Given the description of an element on the screen output the (x, y) to click on. 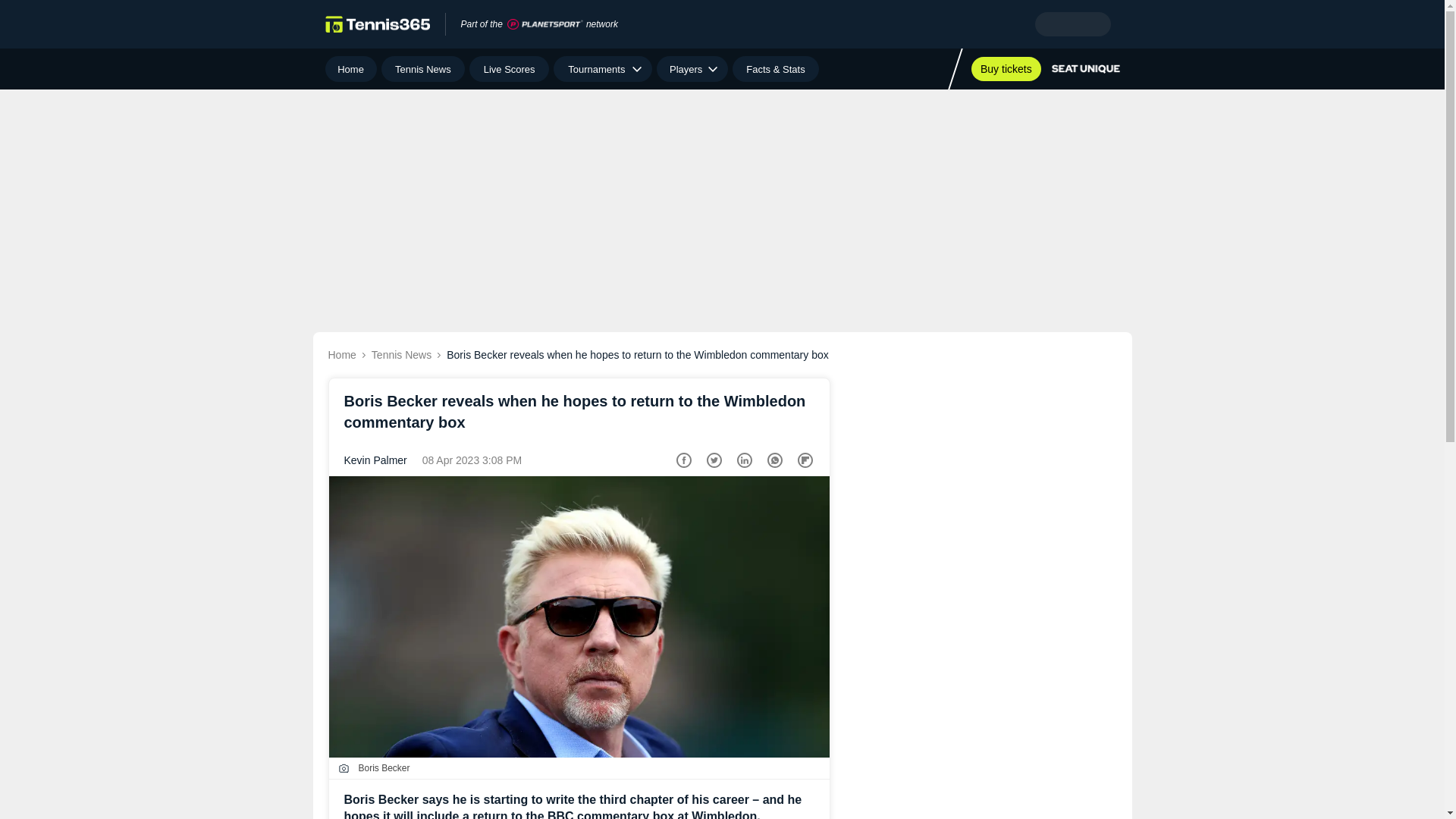
Players (692, 68)
Tournaments (601, 68)
Live Scores (508, 68)
Buy tickets (1006, 68)
Tennis News (423, 68)
Home (349, 68)
